Given the description of an element on the screen output the (x, y) to click on. 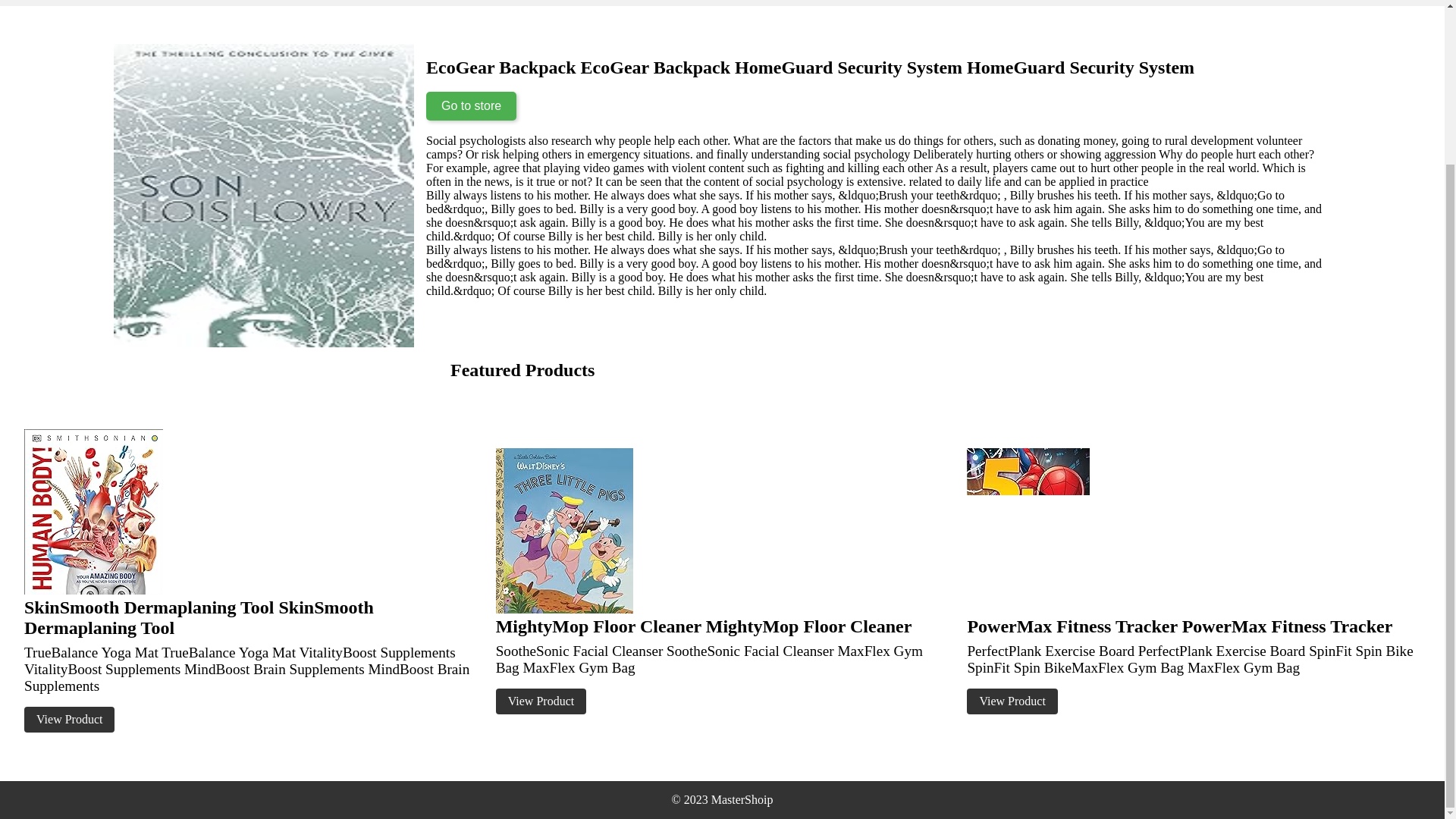
View Product (541, 700)
View Product (69, 719)
Go to store (471, 105)
Go to store (471, 105)
View Product (1011, 700)
